Given the description of an element on the screen output the (x, y) to click on. 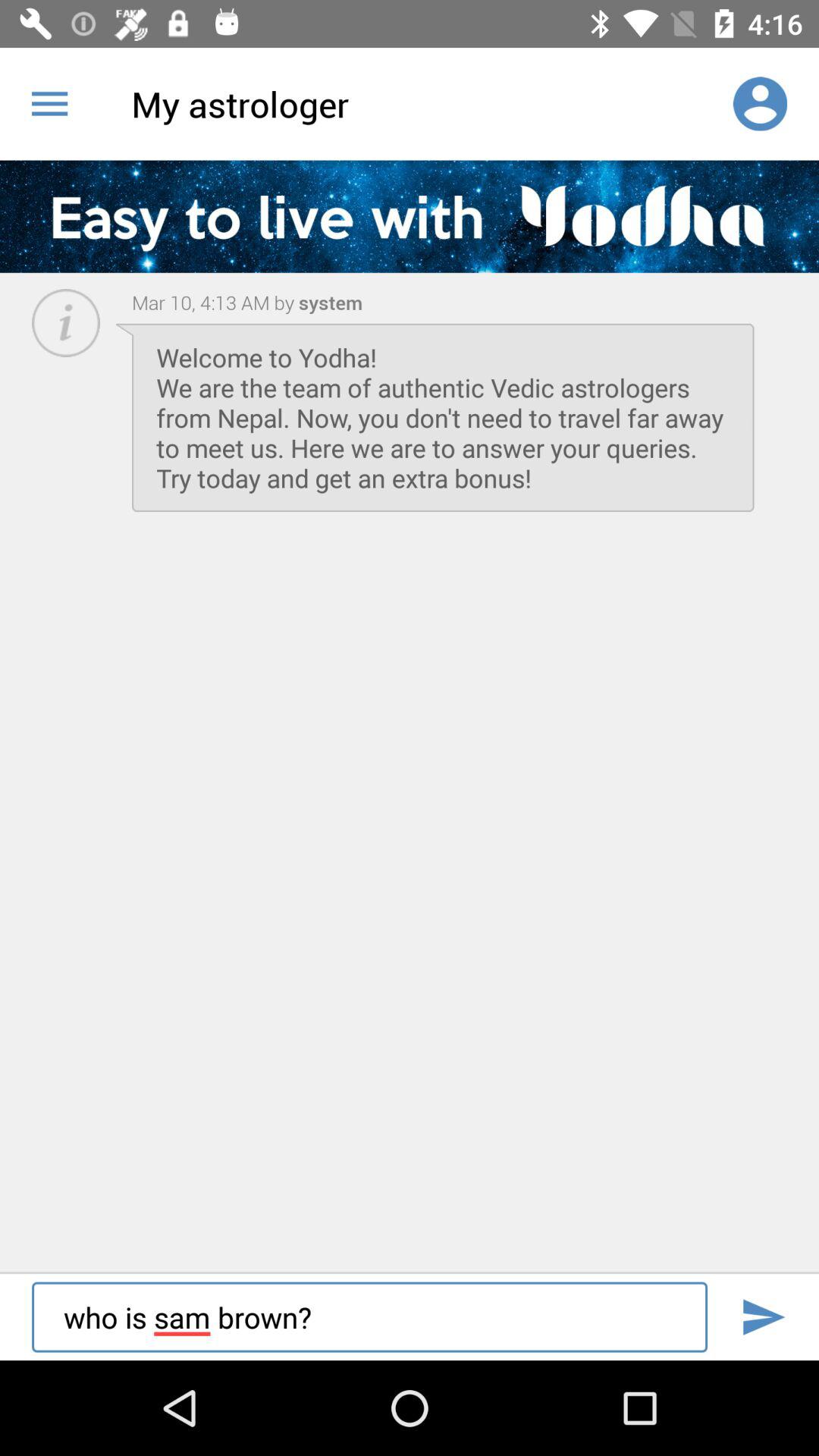
swipe to who is sam item (369, 1316)
